Given the description of an element on the screen output the (x, y) to click on. 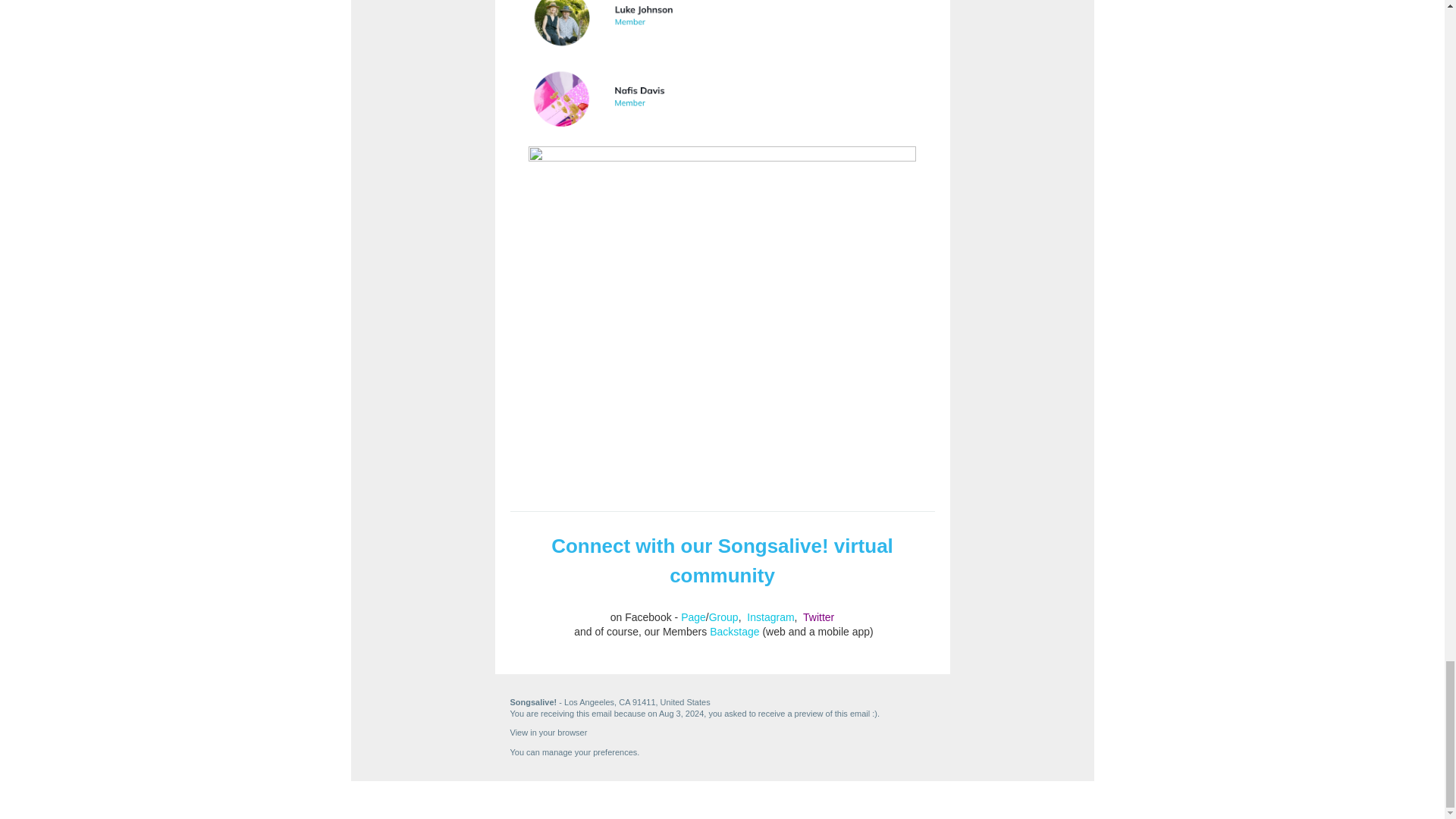
Twitter (818, 616)
Backstage (734, 631)
manage your preferences (589, 751)
Group (723, 616)
Instagram (769, 616)
View in your browser (547, 732)
Page (693, 616)
